Given the description of an element on the screen output the (x, y) to click on. 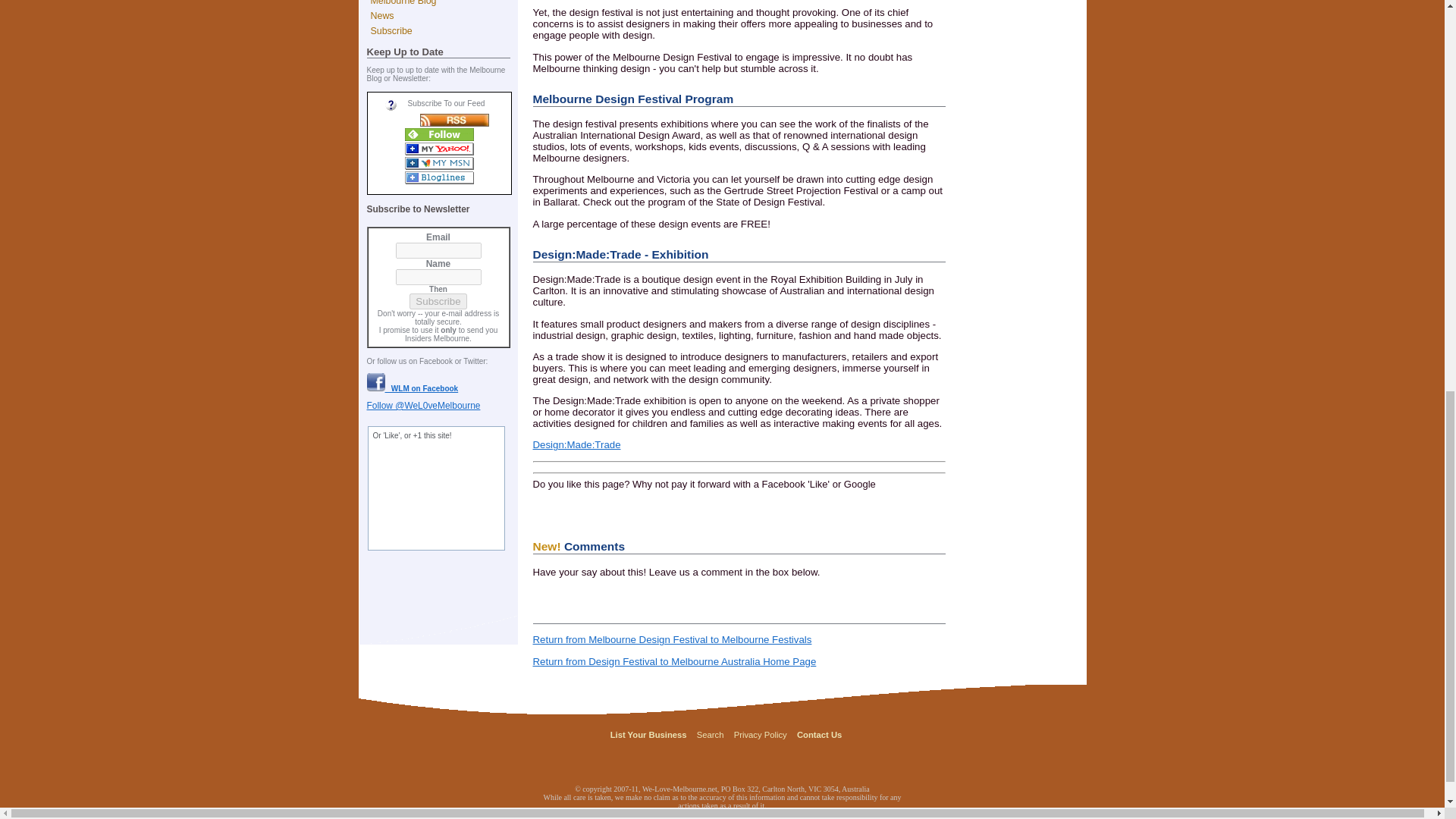
News (442, 15)
Melbourne Blog (442, 4)
Return from Design Festival to Melbourne Australia Home Page (673, 660)
Design:Made:Trade (576, 444)
Subscribe (437, 301)
Subscribe (442, 30)
Return from Melbourne Design Festival to Melbourne Festivals (671, 639)
